Given the description of an element on the screen output the (x, y) to click on. 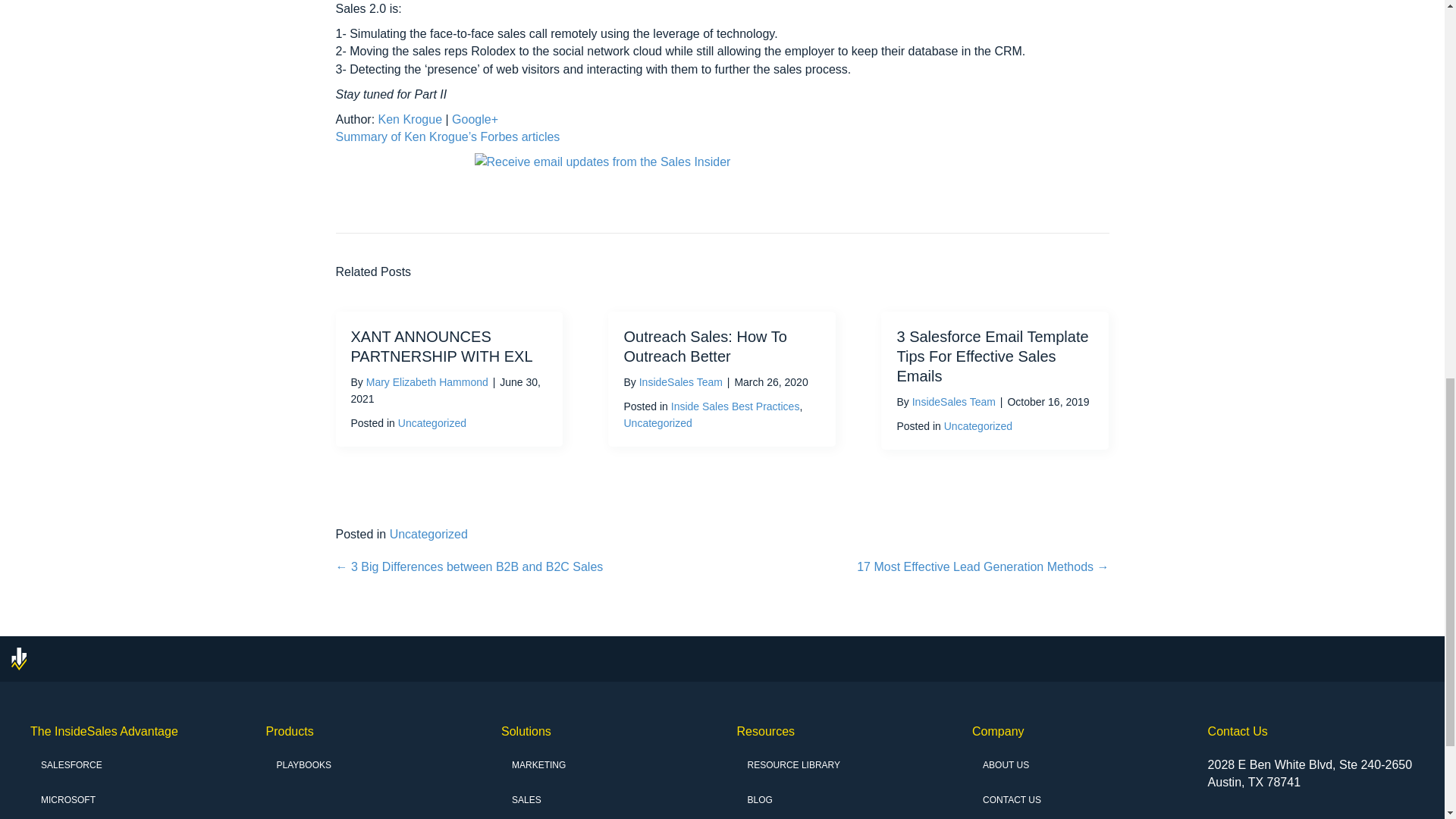
InsideSales-Logo-small (18, 658)
Subscribe to the Sales Insider (722, 173)
3 Salesforce Email Template Tips For Effective Sales Emails (991, 356)
Outreach Sales: How To Outreach Better (704, 346)
XANT ANNOUNCES PARTNERSHIP WITH EXL (441, 346)
